Given the description of an element on the screen output the (x, y) to click on. 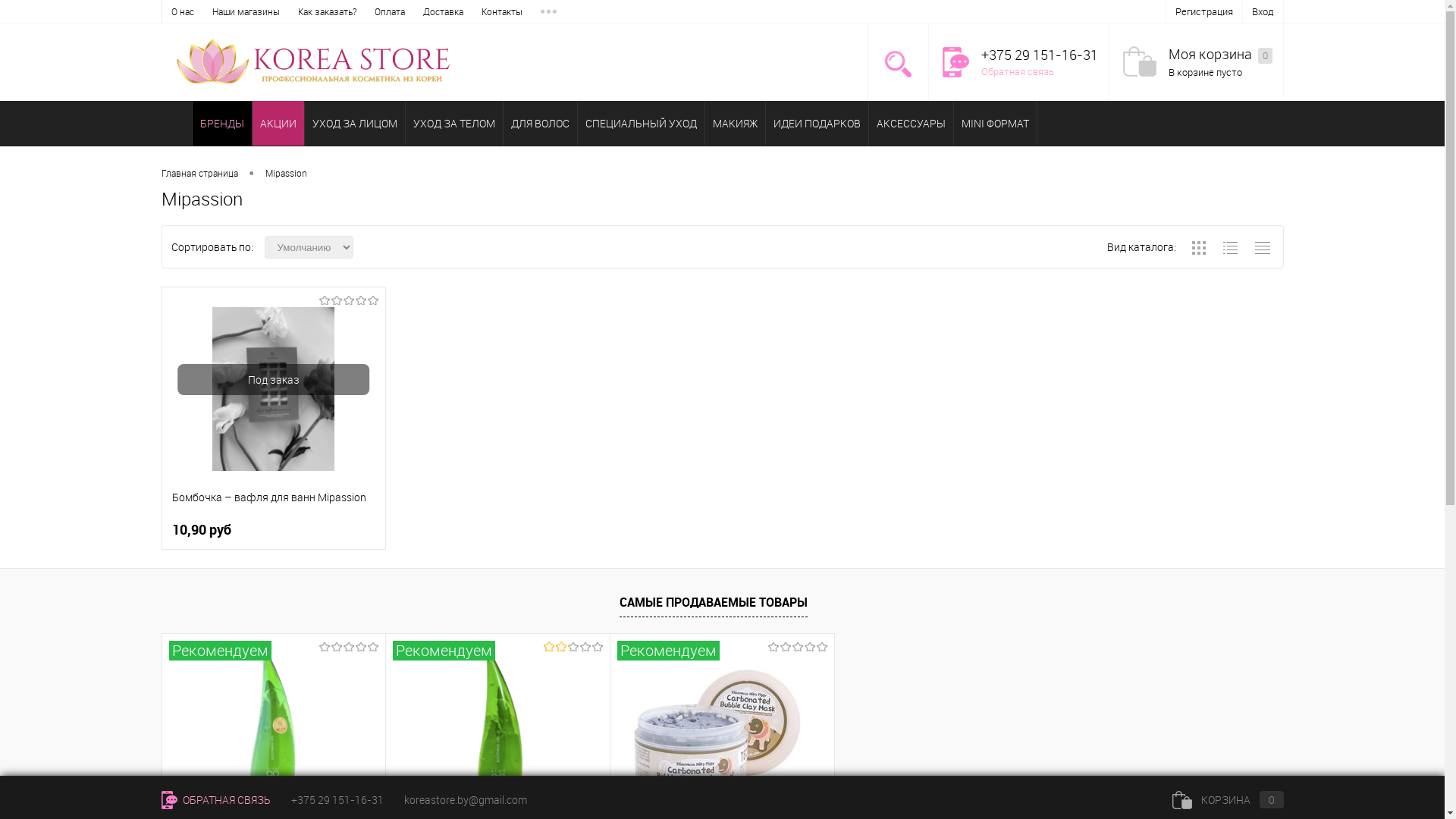
Mipassion Element type: text (286, 173)
koreastore.by@gmail.com Element type: text (464, 799)
+375 29 151-16-31 Element type: text (337, 799)
